Given the description of an element on the screen output the (x, y) to click on. 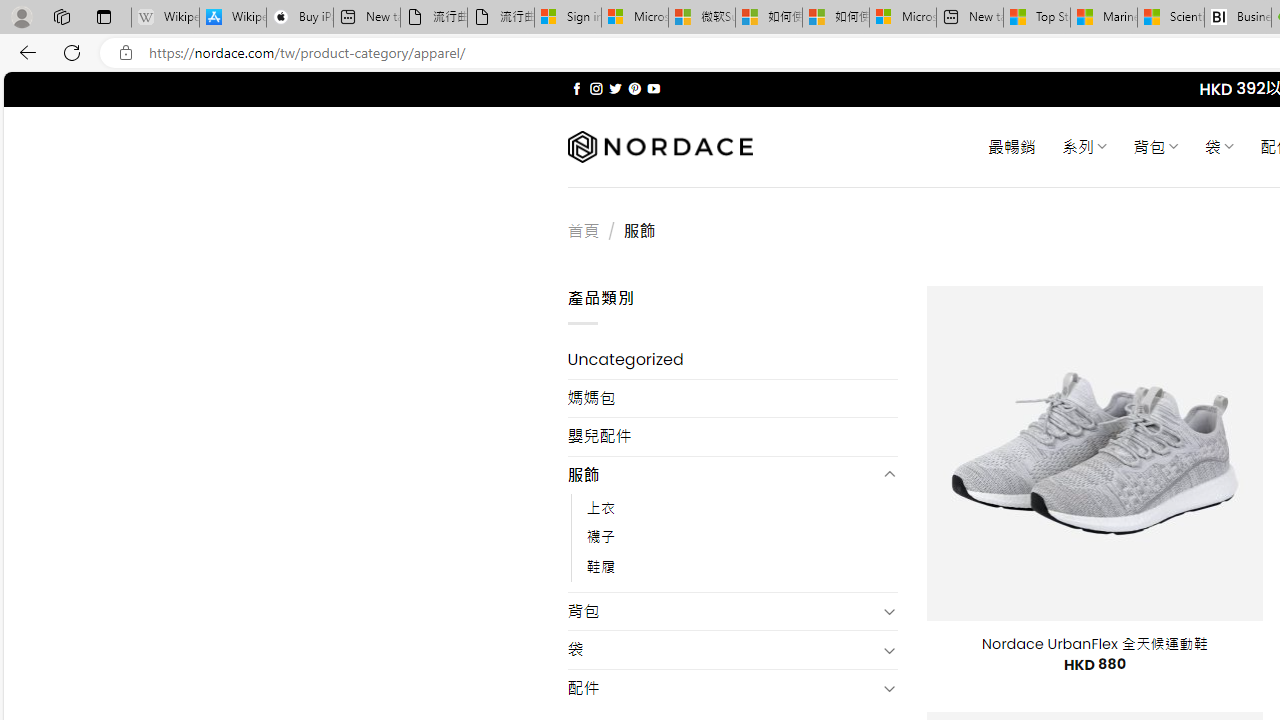
Wikipedia - Sleeping (164, 17)
Personal Profile (21, 16)
Follow on YouTube (653, 88)
Follow on Facebook (576, 88)
Nordace (659, 147)
